Given the description of an element on the screen output the (x, y) to click on. 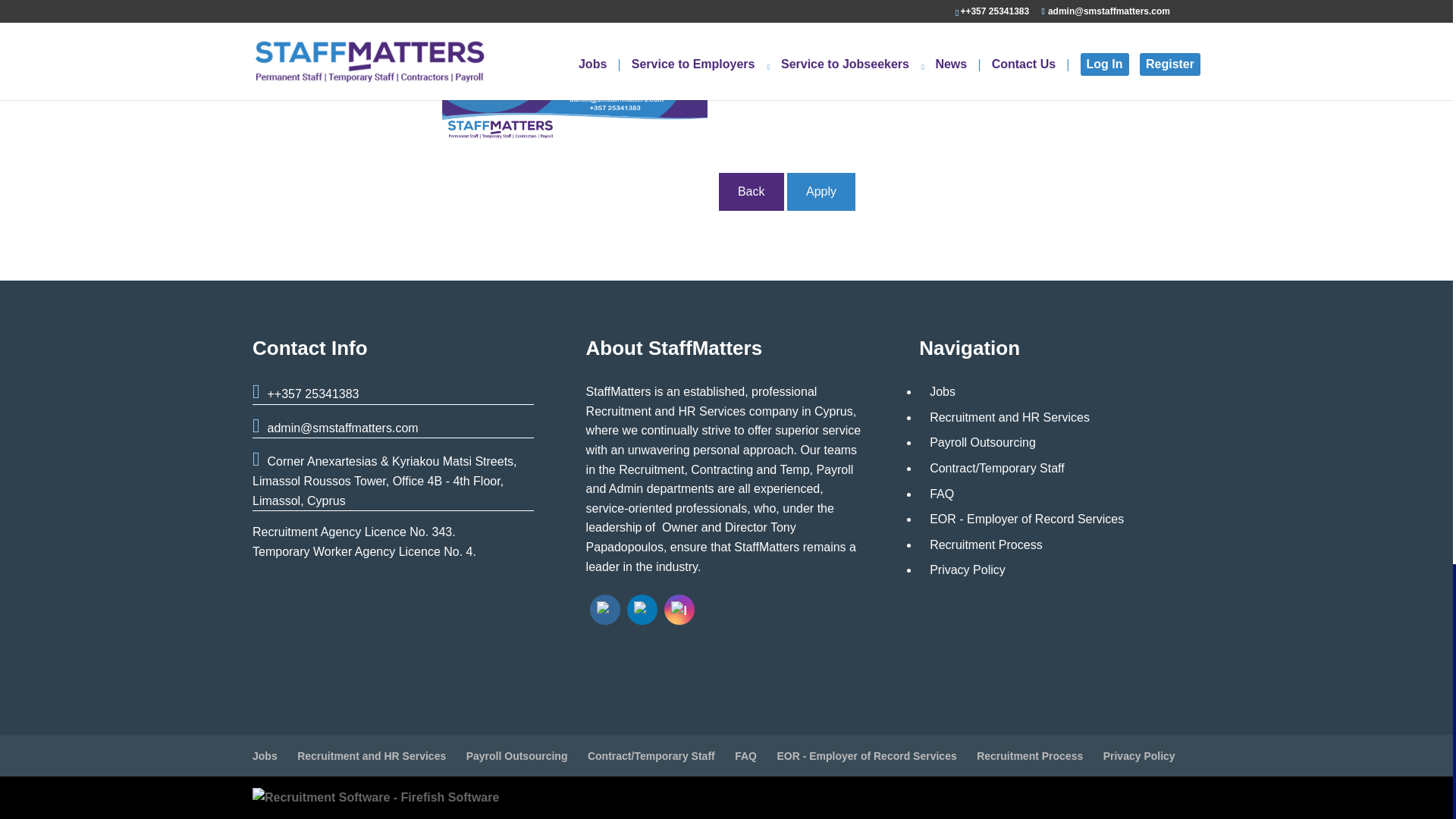
LinkedIn (641, 609)
Facebook (604, 609)
Recruitment Software - Firefish Software (375, 797)
Apply (821, 191)
Back (751, 191)
Instagram (679, 609)
